Given the description of an element on the screen output the (x, y) to click on. 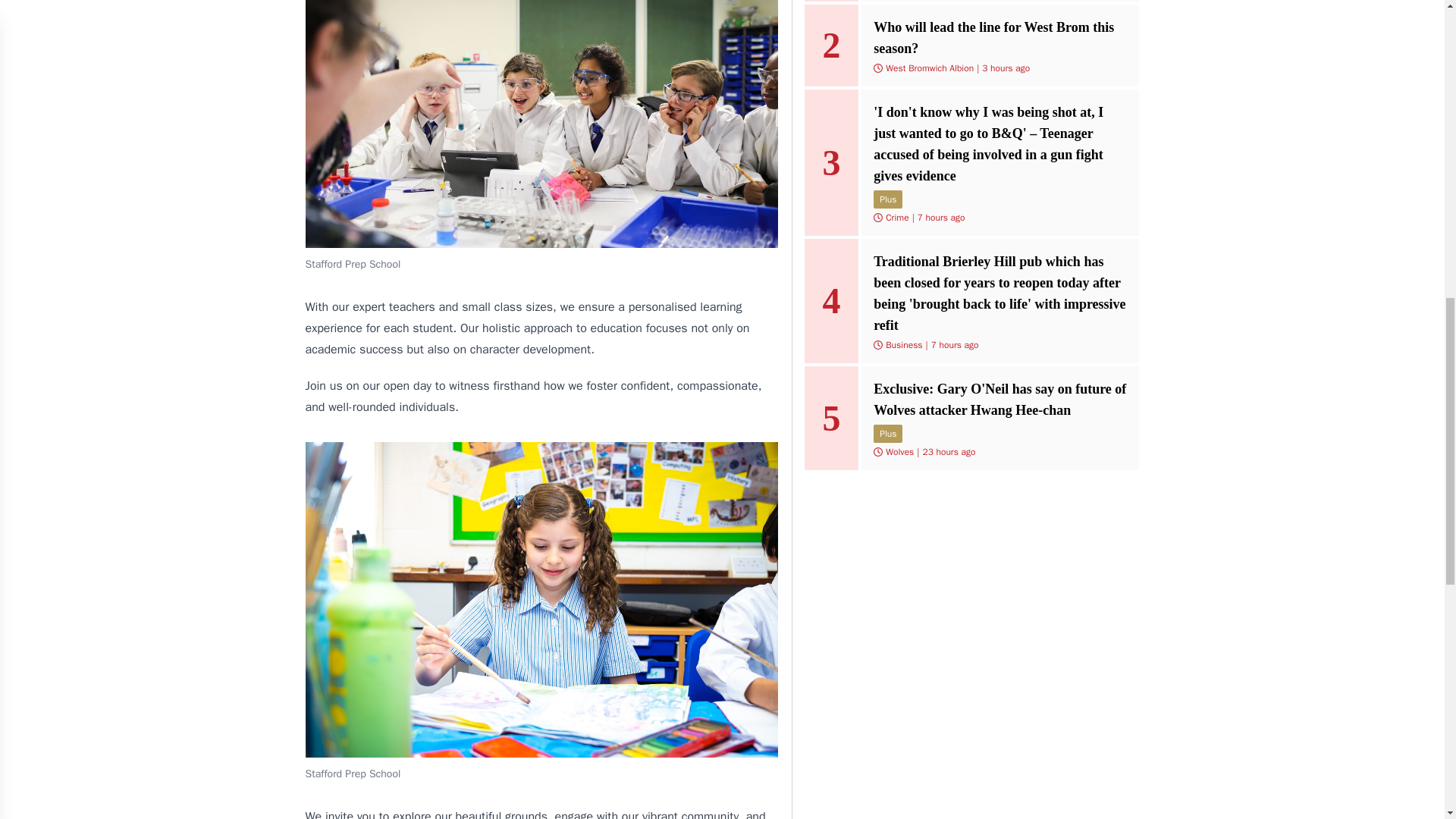
Wolves (899, 451)
Crime (896, 217)
West Bromwich Albion (929, 68)
Business (903, 345)
